Given the description of an element on the screen output the (x, y) to click on. 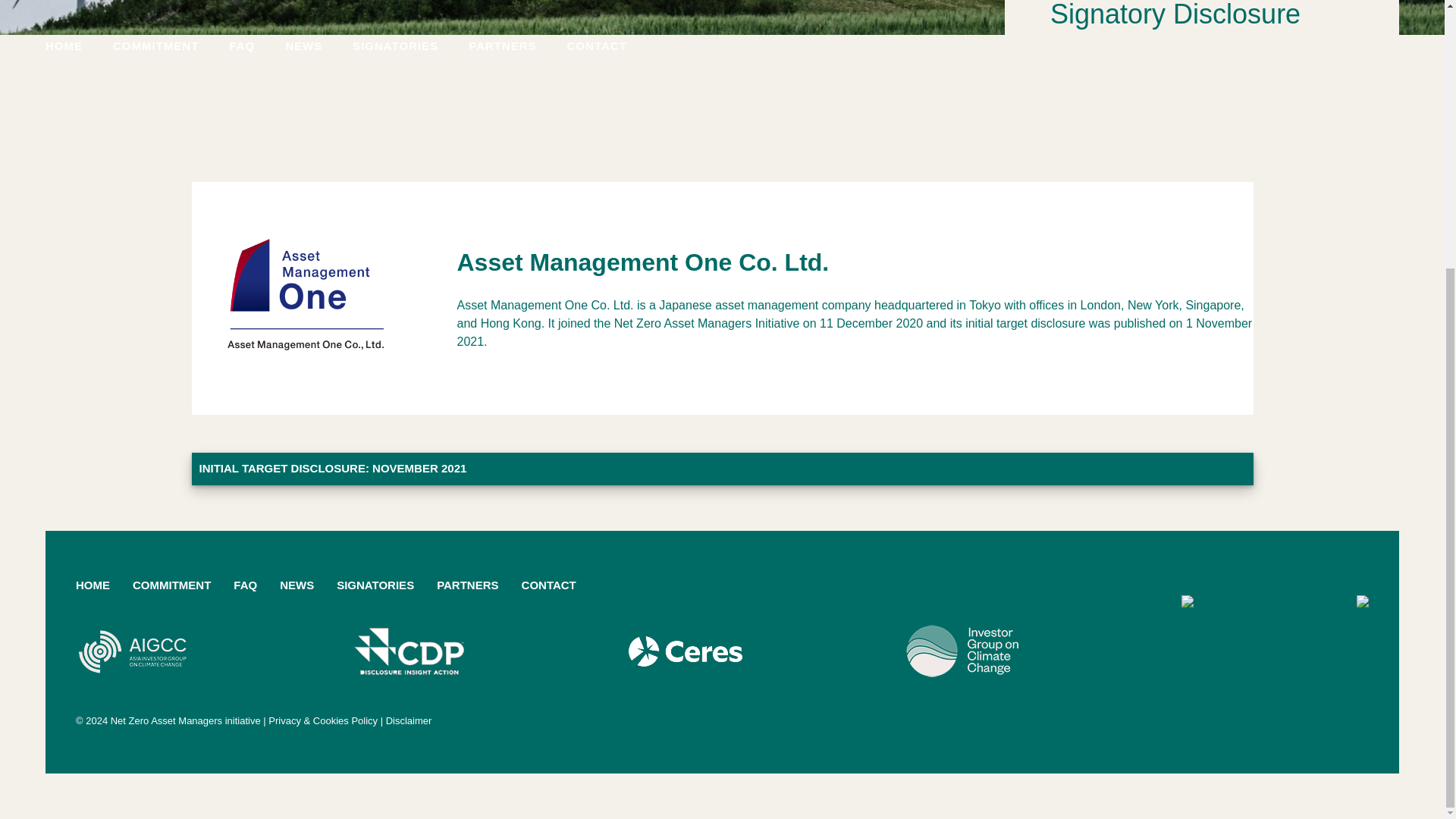
NEWS (296, 588)
CONTACT (548, 588)
SIGNATORIES (374, 588)
PARTNERS (466, 588)
Disclaimer (408, 719)
Start search (291, 165)
COMMITMENT (171, 588)
HOME (92, 588)
FAQ (244, 588)
